Given the description of an element on the screen output the (x, y) to click on. 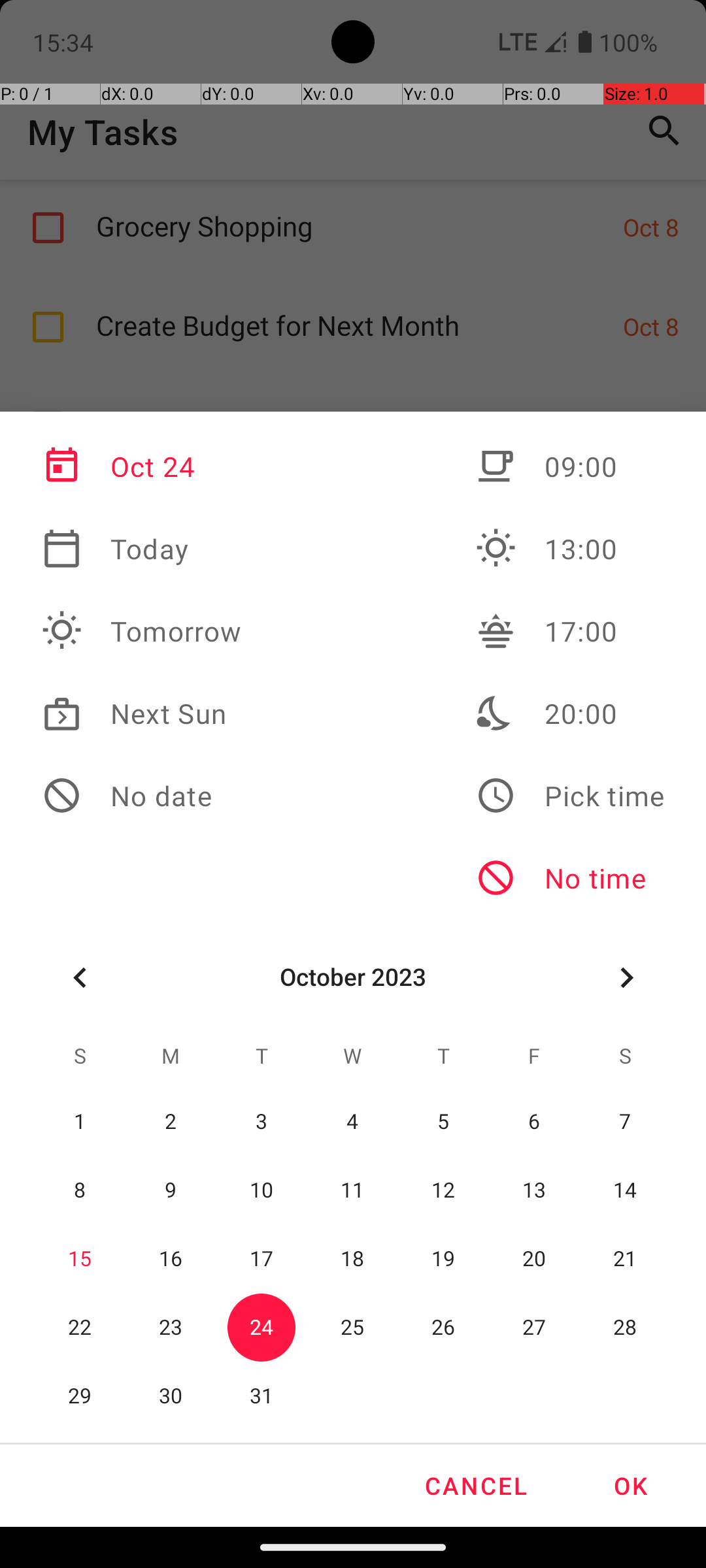
Oct 24 Element type: android.widget.CompoundButton (141, 466)
